Given the description of an element on the screen output the (x, y) to click on. 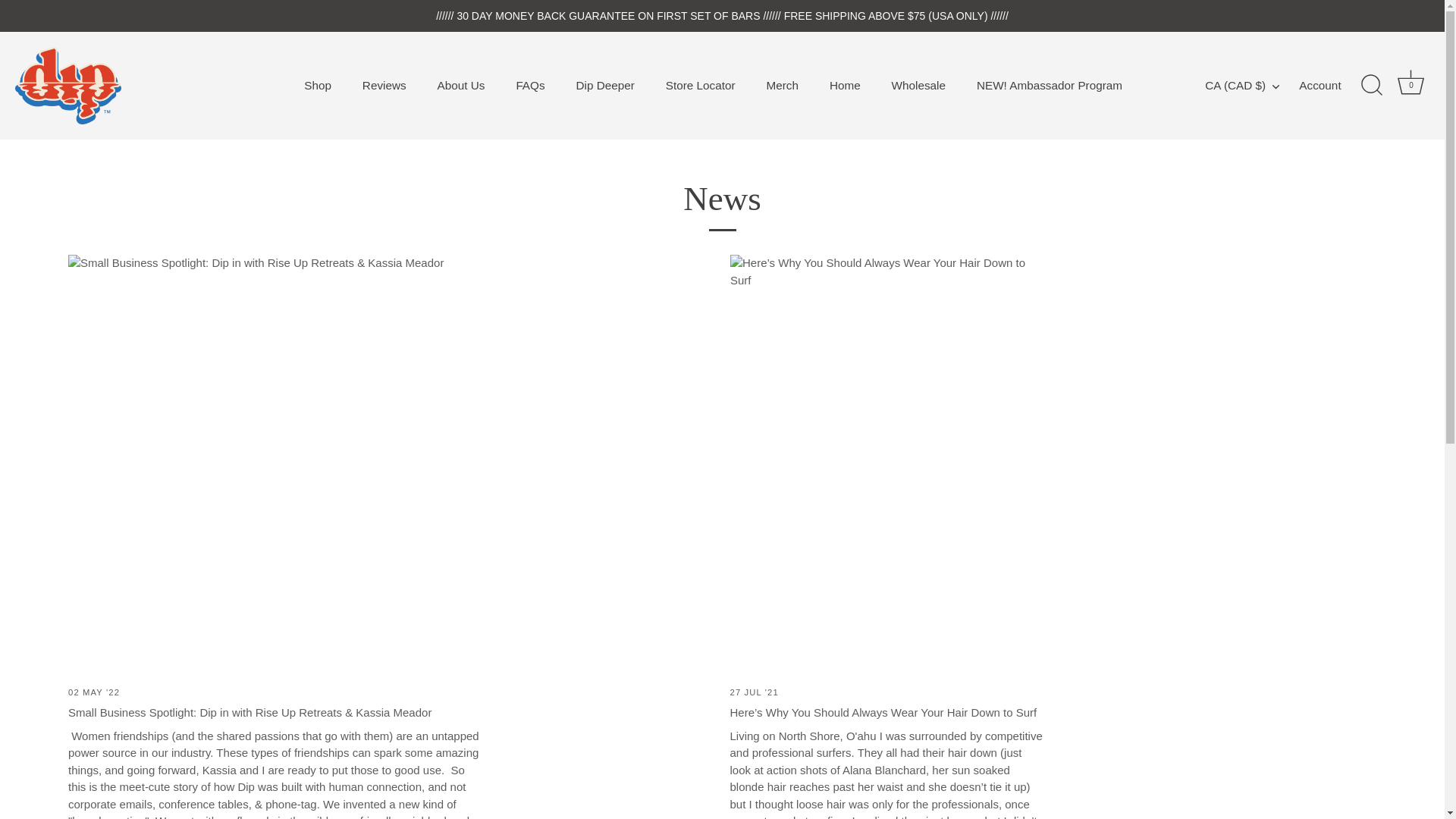
Shop (317, 85)
Reviews (384, 85)
Cart (1410, 81)
FAQs (530, 85)
About Us (461, 85)
